Given the description of an element on the screen output the (x, y) to click on. 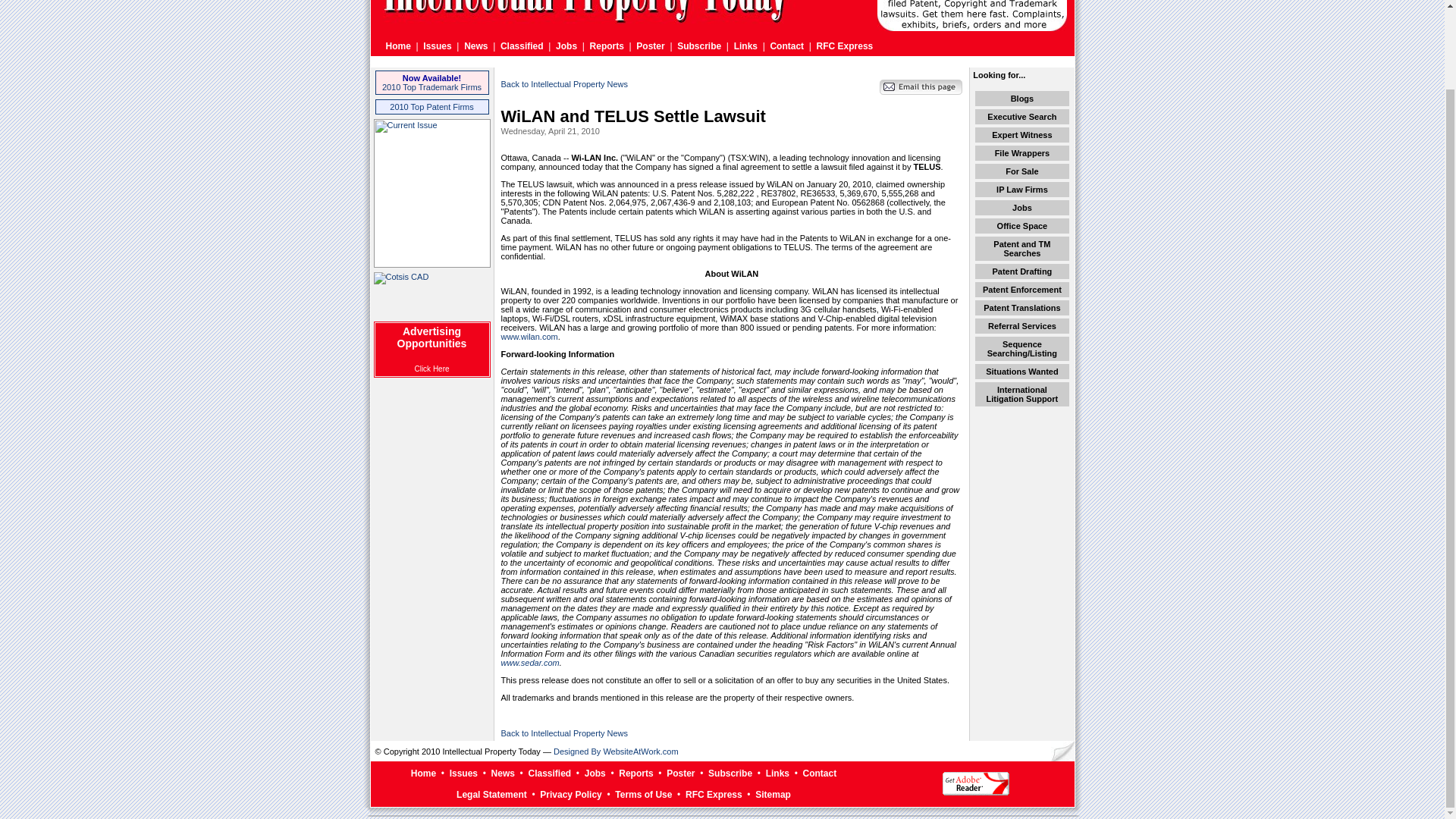
News (475, 45)
IP Law Firms (1021, 189)
Situations Wanted (1021, 370)
Home (397, 45)
Classified (521, 45)
Links (745, 45)
2010 Top Trademark Firms (431, 86)
Subscribe (698, 45)
Jobs (1021, 207)
Referral Services (1022, 325)
Reports (606, 45)
Back to Intellectual Property News (563, 83)
File Wrappers (1021, 153)
Expert Witness (1021, 134)
2010 Top Patent Firms (431, 106)
